Given the description of an element on the screen output the (x, y) to click on. 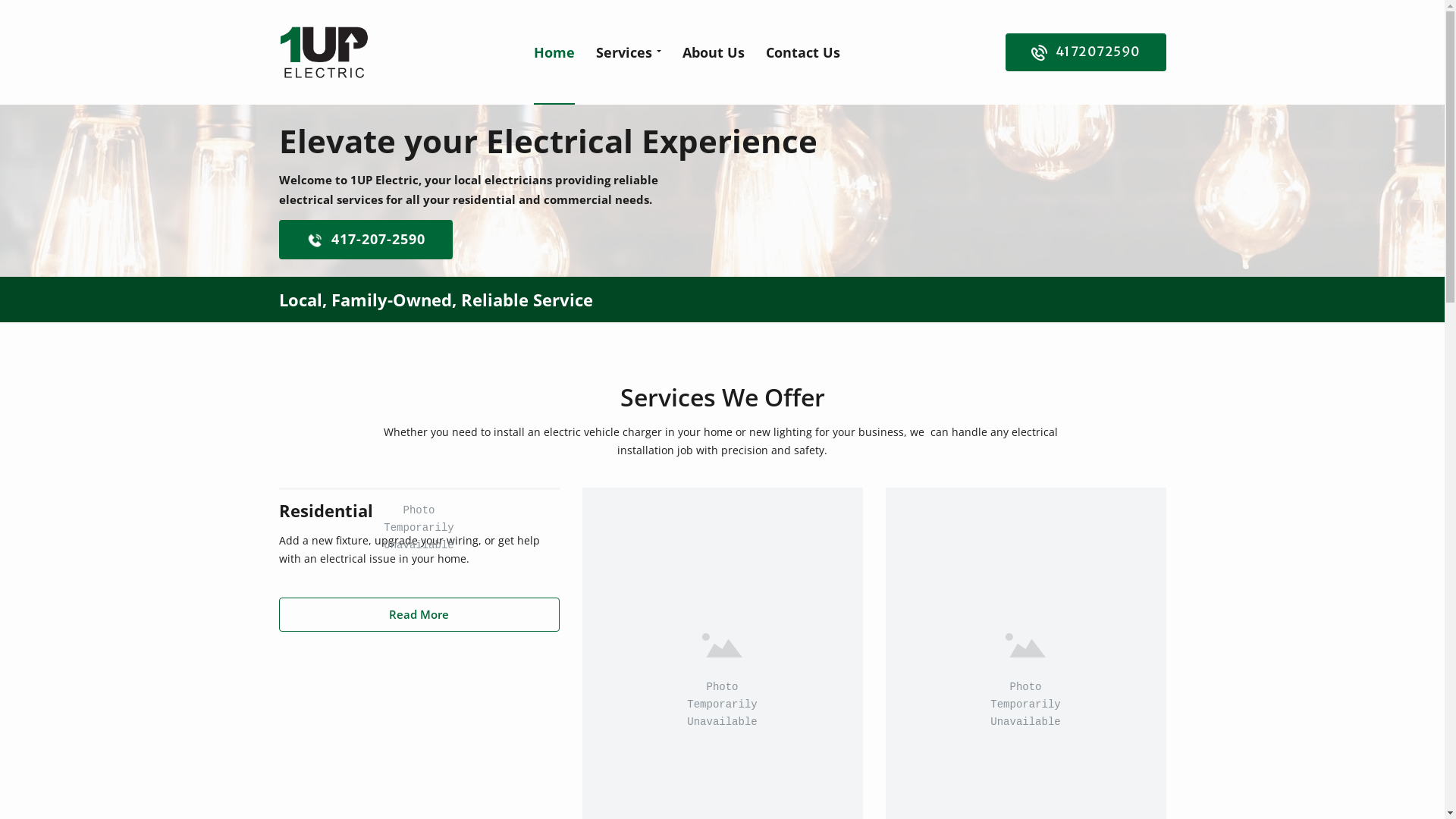
About Us Element type: text (713, 52)
4172072590 Element type: text (1085, 51)
Contact Us Element type: text (803, 52)
417-207-2590 Element type: text (366, 239)
Read More Element type: text (419, 614)
Home Element type: text (554, 52)
Services Element type: text (628, 52)
